Given the description of an element on the screen output the (x, y) to click on. 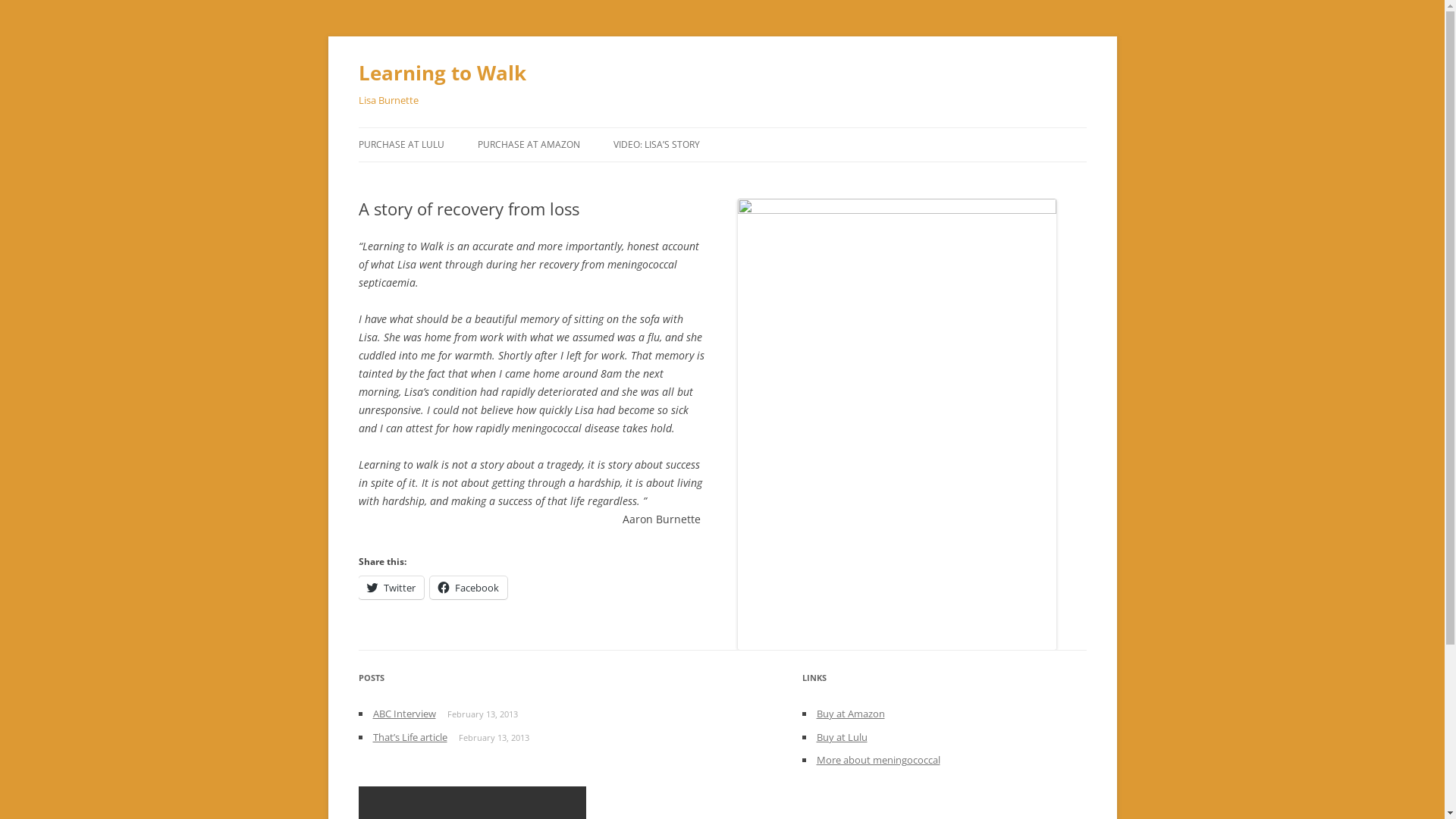
Facebook Element type: text (467, 587)
More about meningococcal Element type: text (877, 759)
Twitter Element type: text (390, 587)
Skip to content Element type: text (721, 127)
Learning to Walk Element type: text (441, 72)
PURCHASE AT AMAZON Element type: text (528, 144)
Buy at Amazon Element type: text (849, 713)
ABC Interview Element type: text (404, 713)
Buy at Lulu Element type: text (840, 736)
PURCHASE AT LULU Element type: text (400, 144)
